Given the description of an element on the screen output the (x, y) to click on. 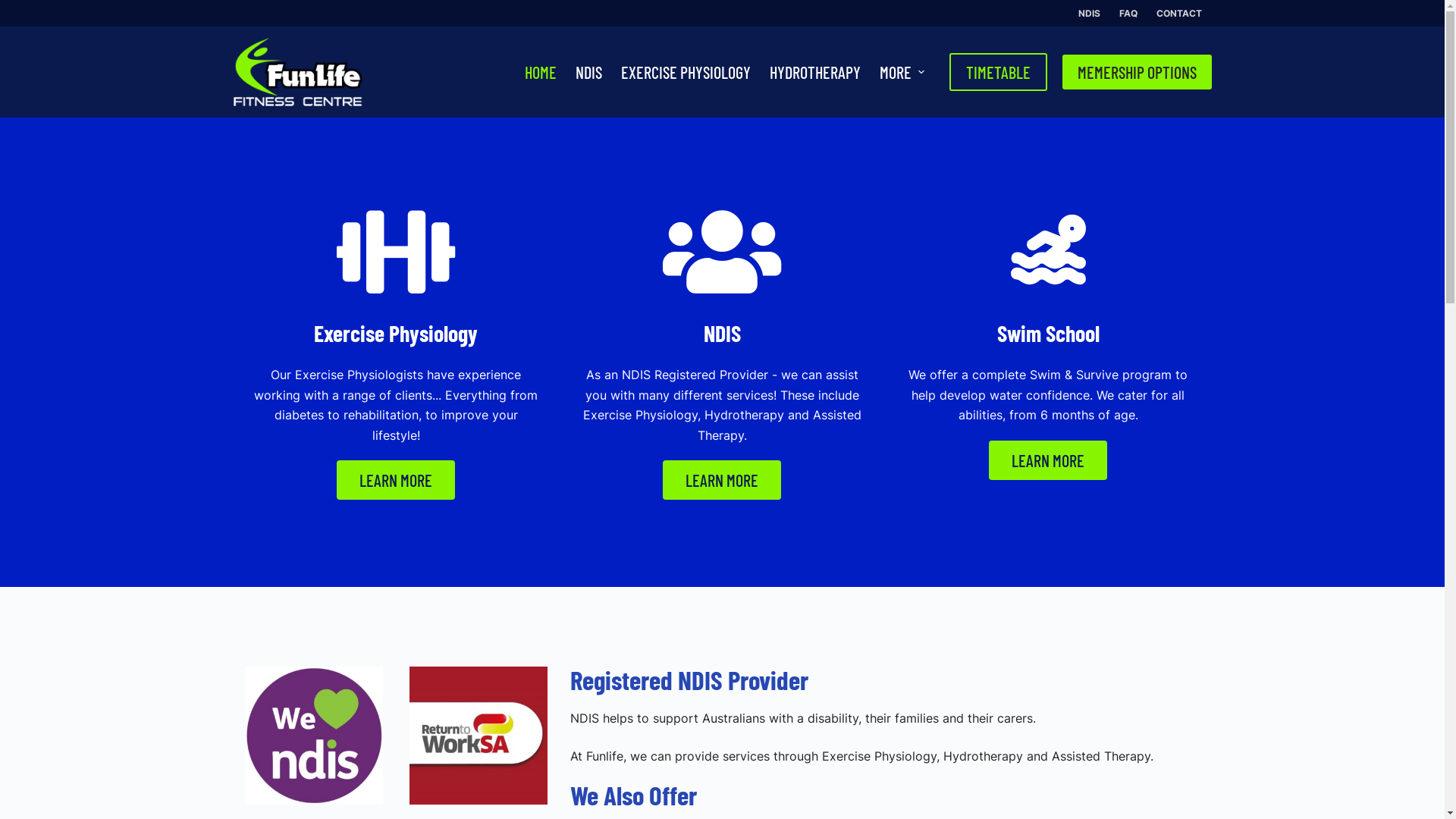
NDIS Element type: text (1089, 13)
Skip to content Element type: text (15, 7)
LEARN MORE Element type: text (721, 479)
MEMERSHIP OPTIONS Element type: text (1136, 71)
HOME Element type: text (539, 71)
CONTACT Element type: text (1178, 13)
FAQ Element type: text (1128, 13)
TIMETABLE Element type: text (998, 72)
NDIS Element type: text (588, 71)
HYDROTHERAPY Element type: text (814, 71)
EXERCISE PHYSIOLOGY Element type: text (685, 71)
LEARN MORE Element type: text (395, 479)
LEARN MORE Element type: text (1047, 460)
MORE Element type: text (901, 71)
